Given the description of an element on the screen output the (x, y) to click on. 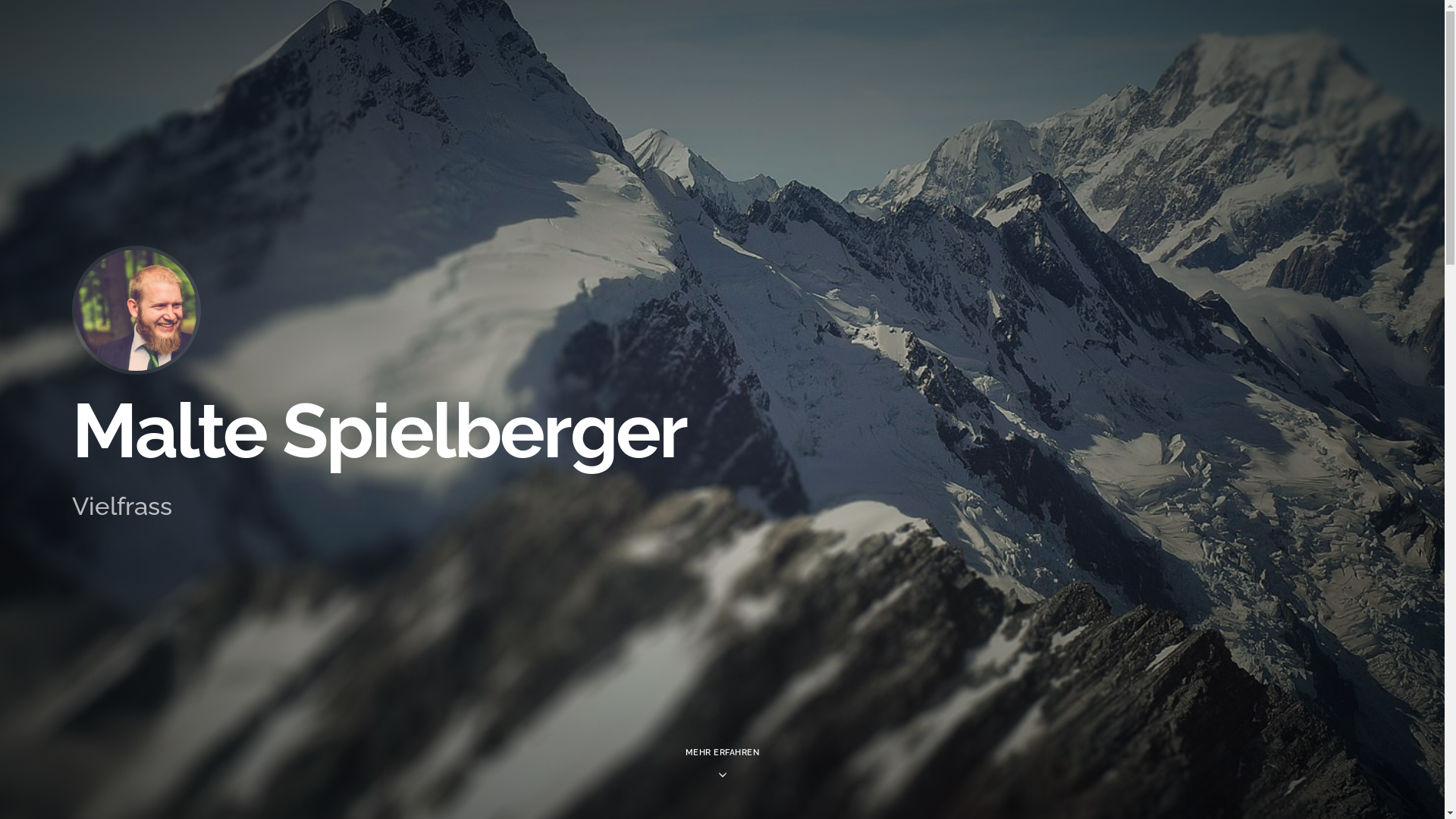
MEHR ERFAHREN Element type: text (722, 748)
